Given the description of an element on the screen output the (x, y) to click on. 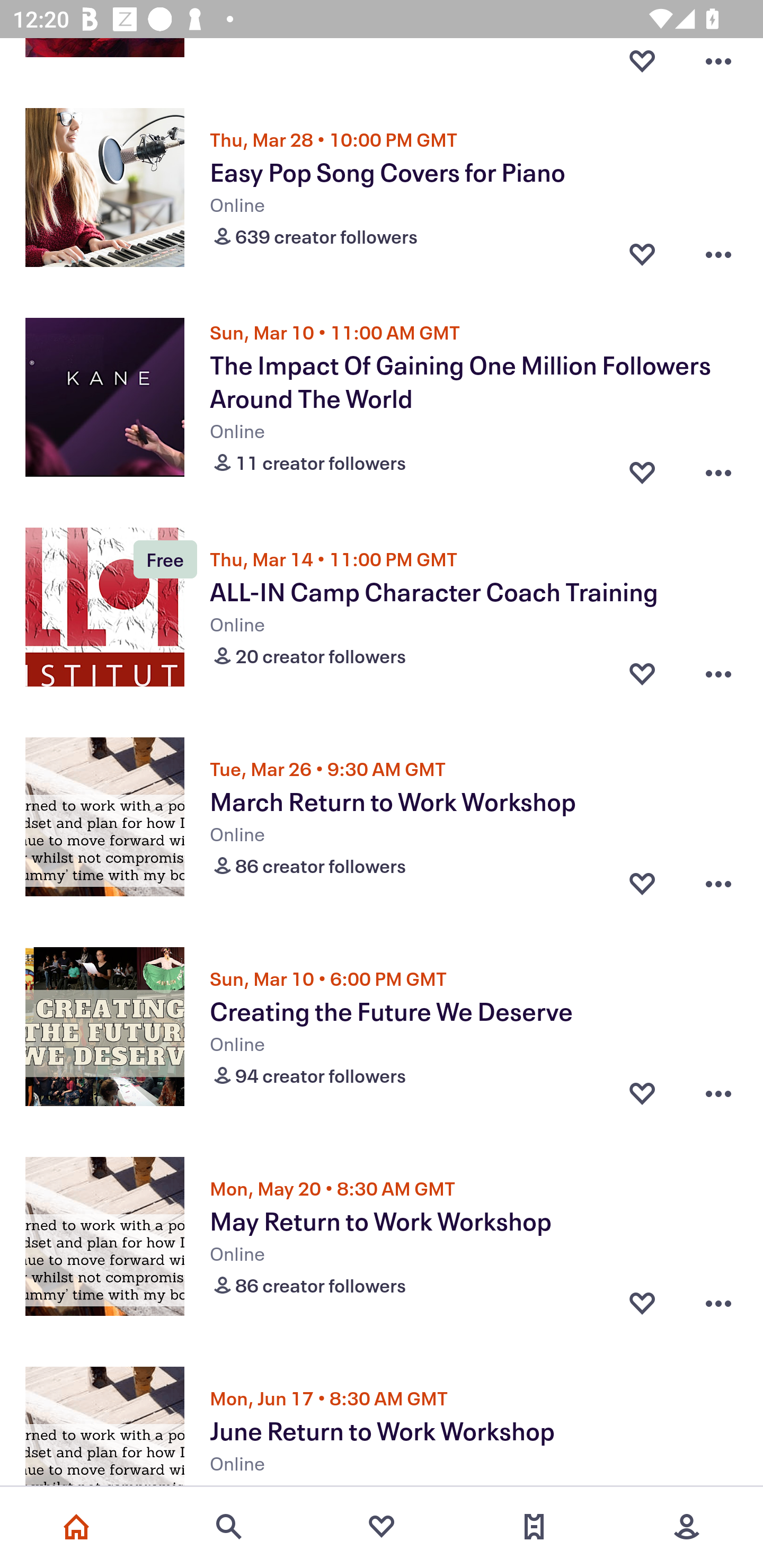
Favorite button (642, 60)
Overflow menu button (718, 60)
Favorite button (642, 253)
Overflow menu button (718, 253)
Favorite button (642, 467)
Overflow menu button (718, 467)
Favorite button (642, 673)
Overflow menu button (718, 673)
Favorite button (642, 883)
Overflow menu button (718, 883)
Favorite button (642, 1093)
Overflow menu button (718, 1093)
Favorite button (642, 1302)
Overflow menu button (718, 1302)
Home (76, 1526)
Search events (228, 1526)
Favorites (381, 1526)
Tickets (533, 1526)
More (686, 1526)
